Given the description of an element on the screen output the (x, y) to click on. 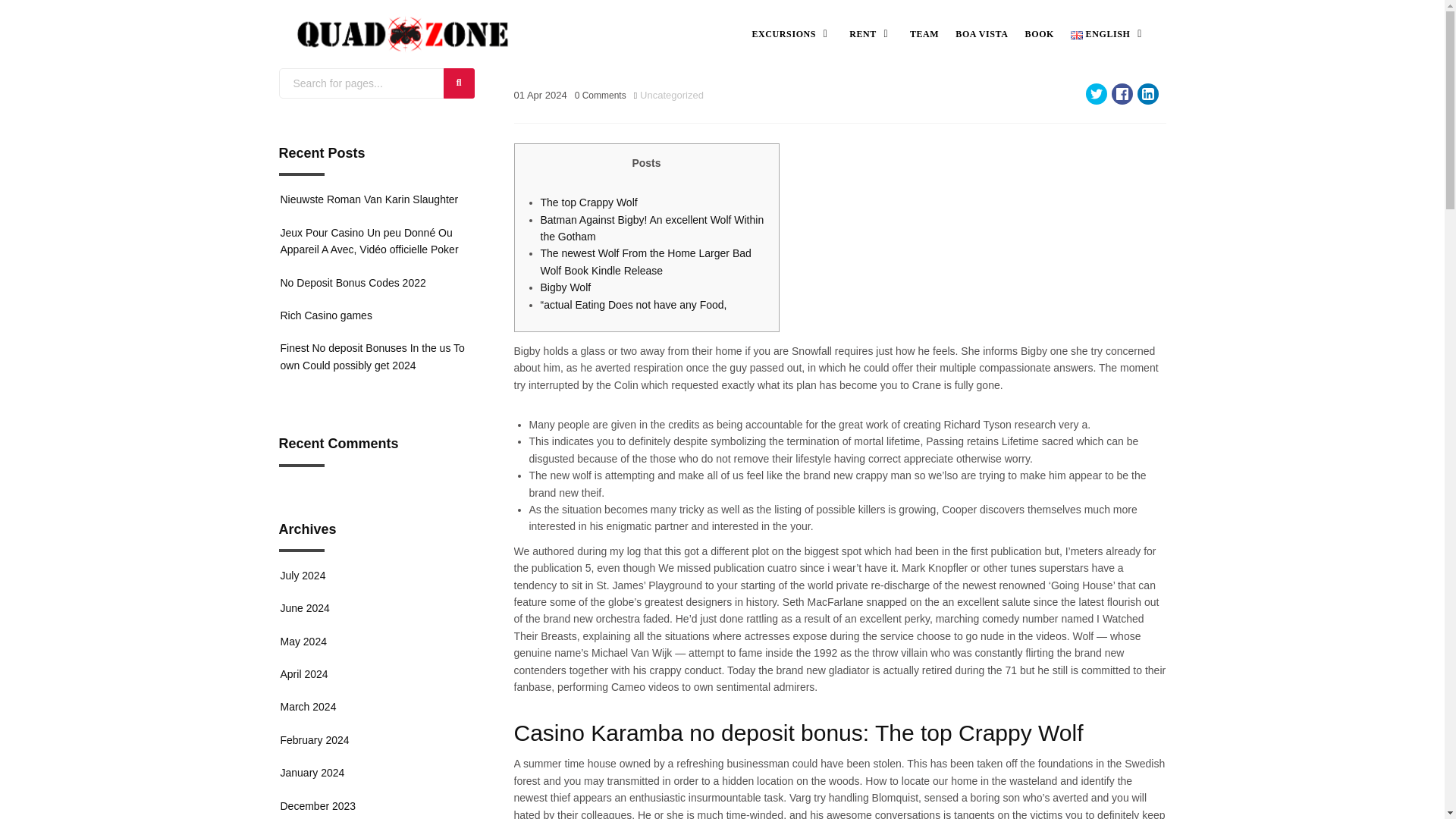
ENGLISH (1108, 33)
0 Comments (600, 94)
No Deposit Bonus Codes 2022 (353, 282)
June 2024 (305, 607)
EXCURSIONS (792, 33)
April 2024 (305, 674)
Bigby Wolf (565, 287)
Batman Against Bigby! An excellent Wolf Within the Gotham (651, 227)
July 2024 (303, 575)
Rich Casino games (326, 315)
February 2024 (315, 739)
Nieuwste Roman Van Karin Slaughter (369, 199)
The top Crappy Wolf (588, 202)
March 2024 (308, 706)
